Given the description of an element on the screen output the (x, y) to click on. 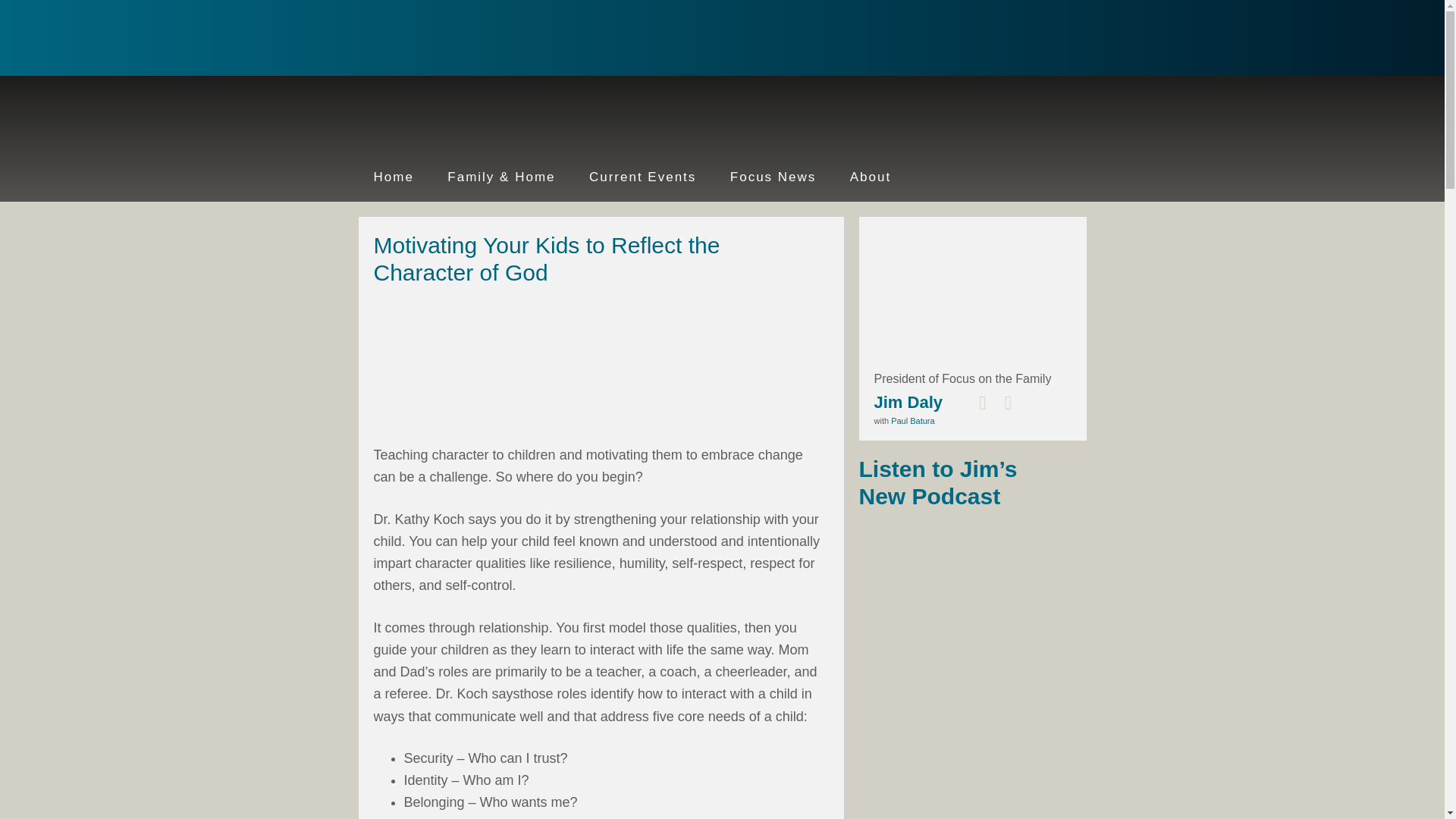
Jim Daly (907, 402)
Current Events (642, 177)
About (869, 177)
Jim Daly (456, 39)
Home (393, 177)
Paul Batura (912, 420)
Focus News (772, 177)
